Given the description of an element on the screen output the (x, y) to click on. 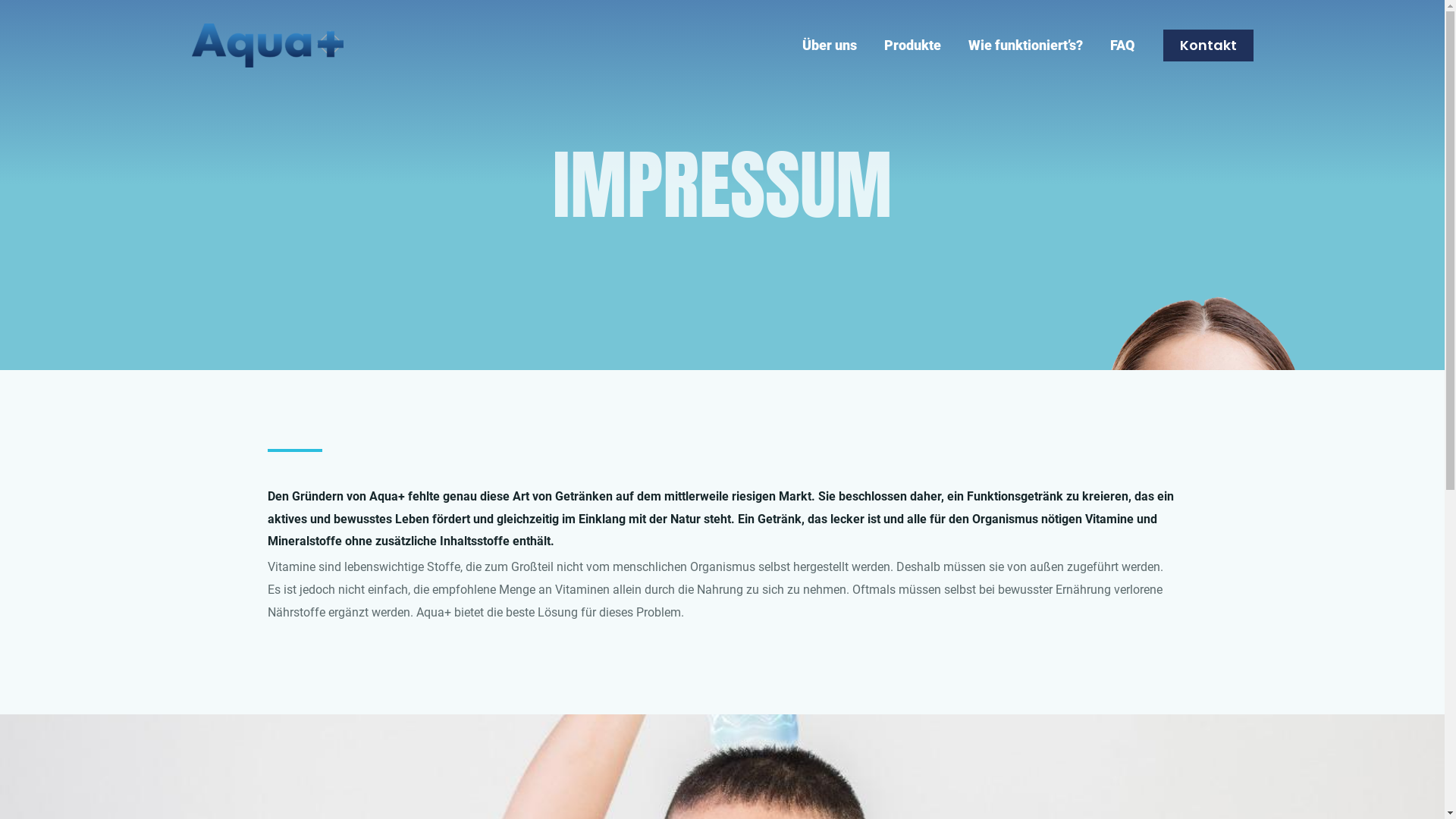
Produkte Element type: text (912, 45)
FAQ Element type: text (1122, 45)
Kontakt Element type: text (1208, 45)
